Given the description of an element on the screen output the (x, y) to click on. 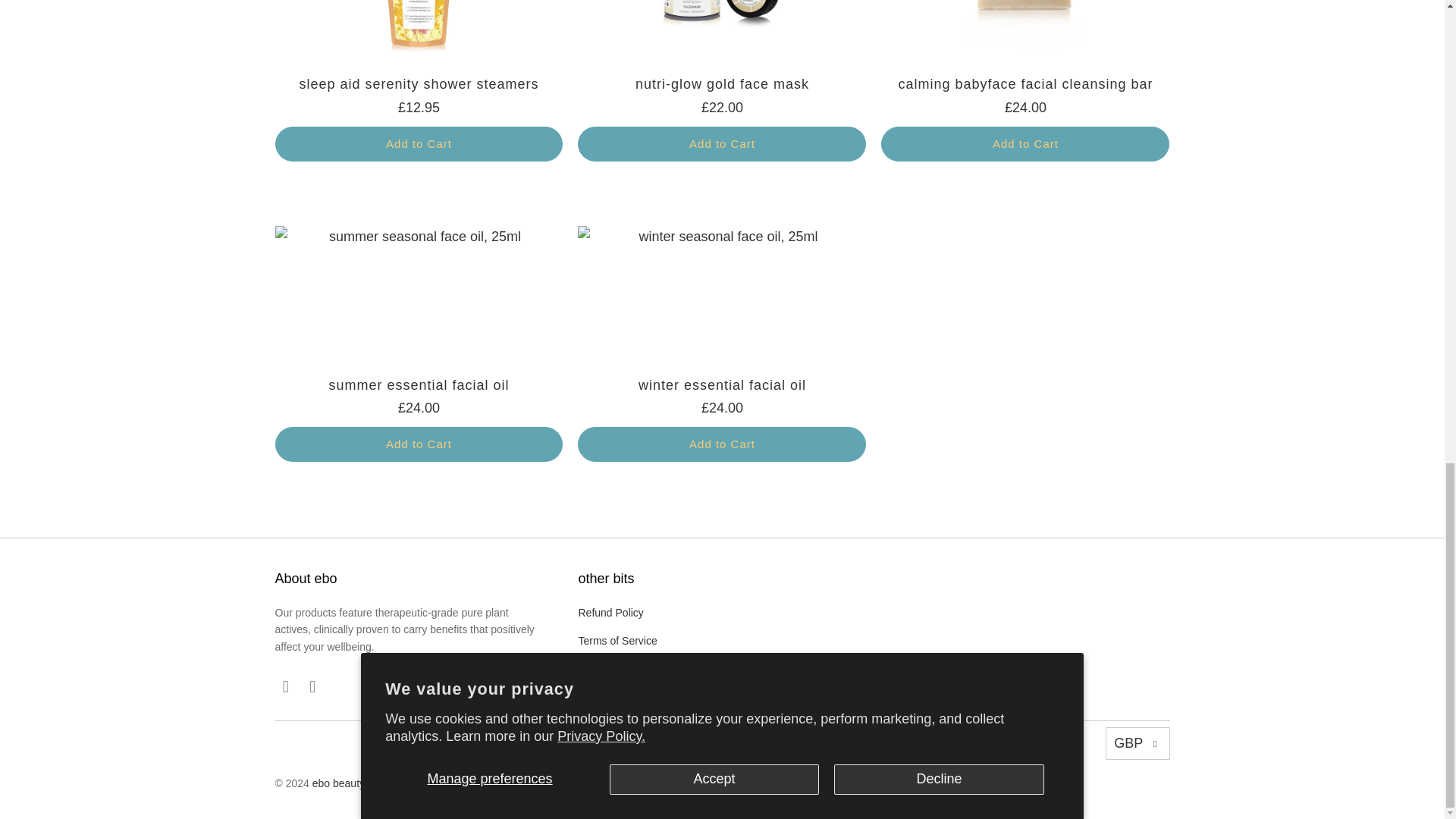
ebo beauty on Instagram (312, 687)
ebo beauty on Facebook (286, 687)
